Given the description of an element on the screen output the (x, y) to click on. 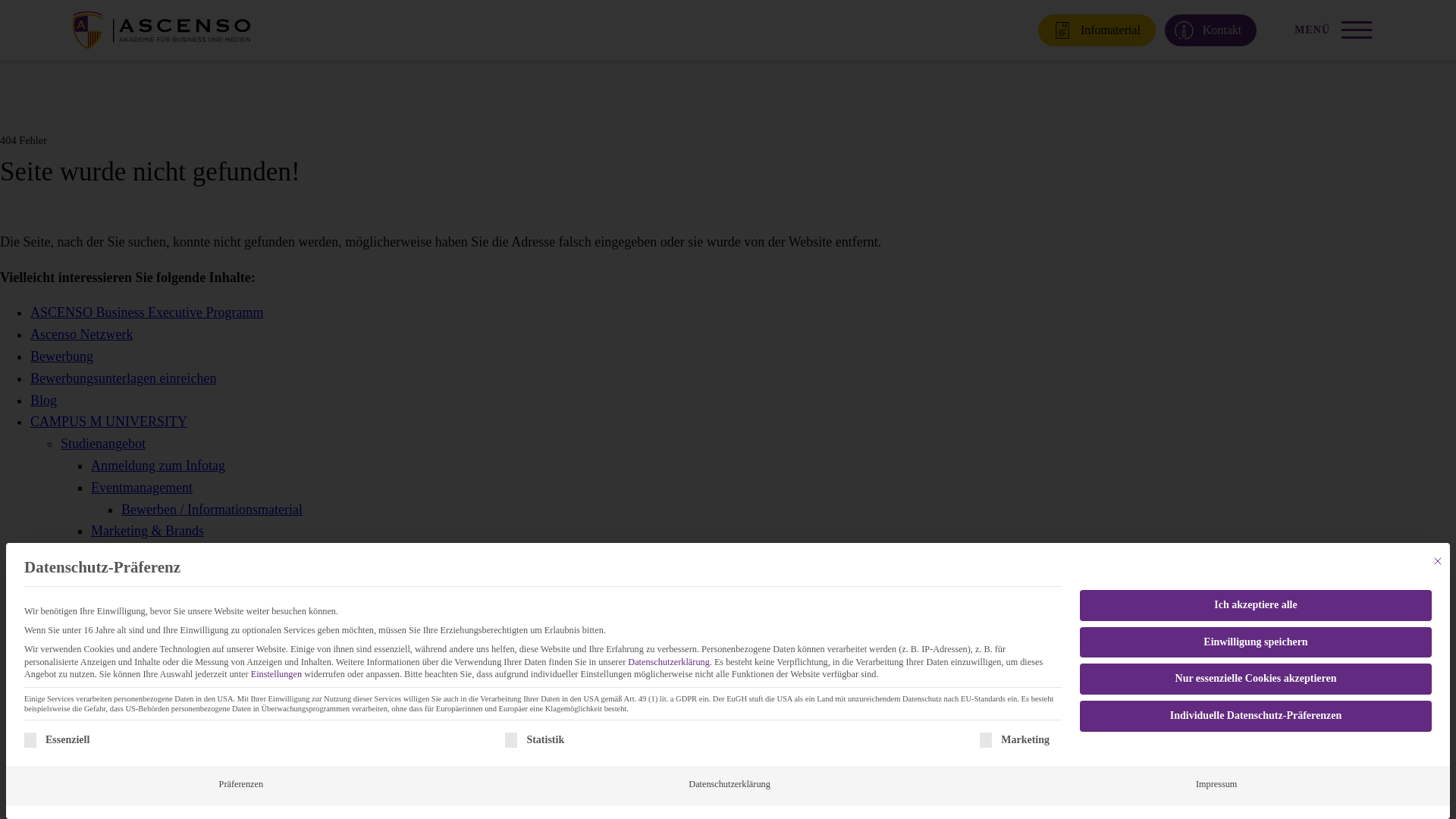
on (30, 739)
Infomaterial (1097, 29)
Bewerbung (61, 355)
Studienangebot (103, 443)
CAMPUS M UNIVERSITY (108, 421)
ASCENSO Business Executive Programm (146, 312)
Anmeldung zum Infotag (157, 465)
Eventmanagement (141, 487)
on (510, 739)
Blog (43, 400)
Bewerbungsunterlagen einreichen (122, 378)
Psychologie und Kommunikation (182, 574)
on (985, 739)
Ascenso Netzwerk (81, 334)
